Given the description of an element on the screen output the (x, y) to click on. 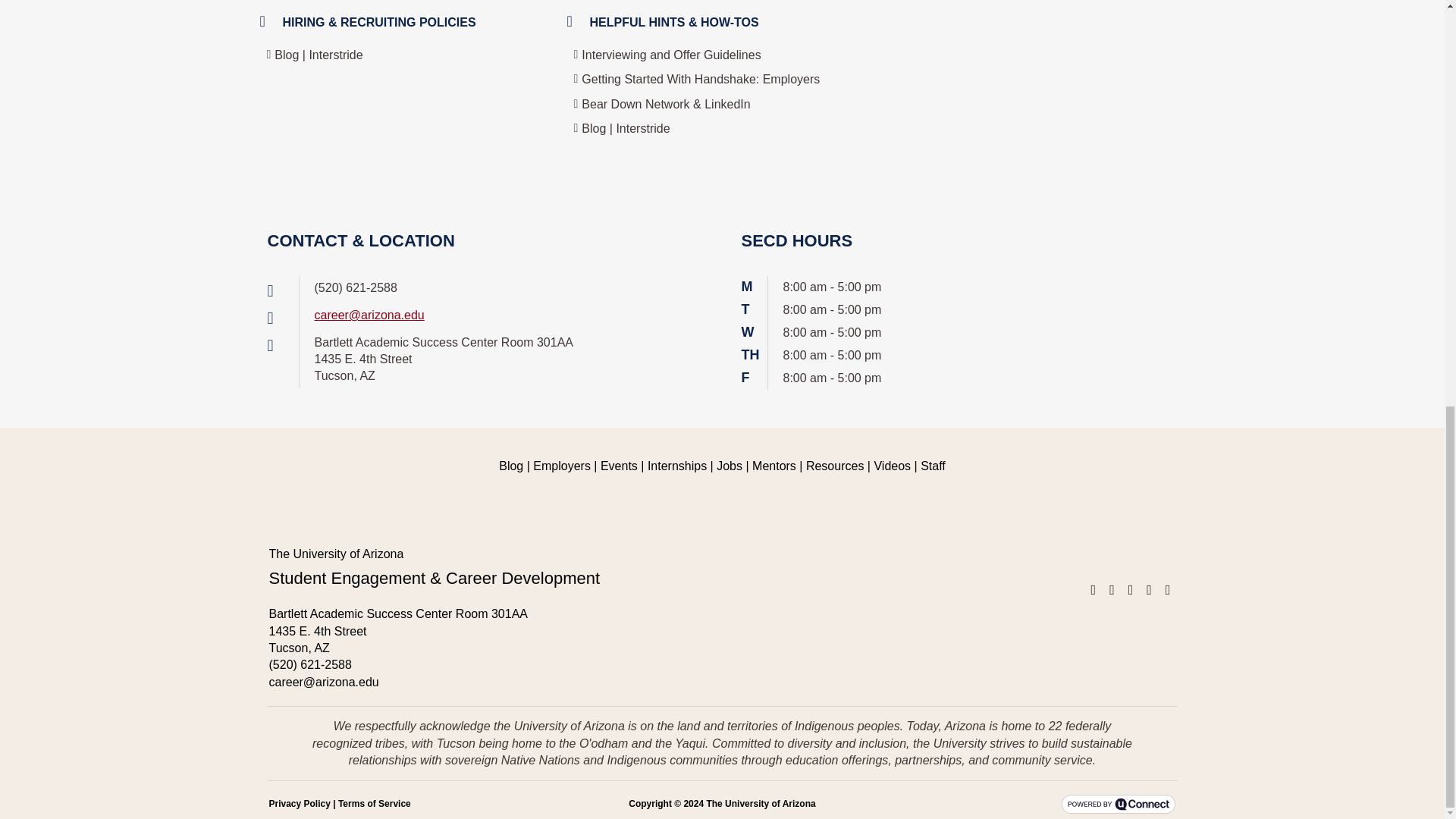
Facebook (1094, 589)
LinkedIn (1130, 589)
YouTube (1168, 589)
Instagram (1111, 589)
